Given the description of an element on the screen output the (x, y) to click on. 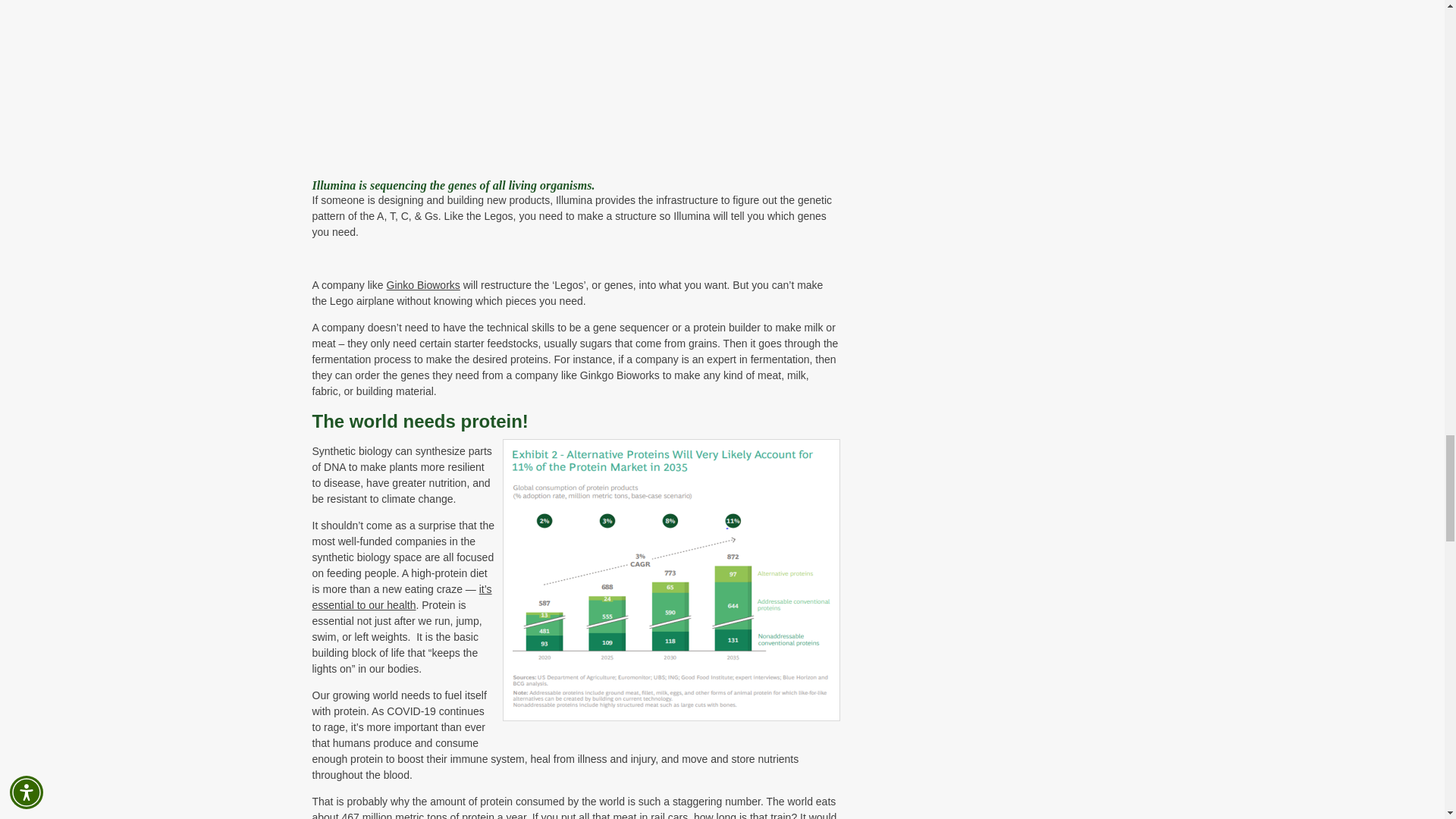
YouTube video player (524, 81)
